Given the description of an element on the screen output the (x, y) to click on. 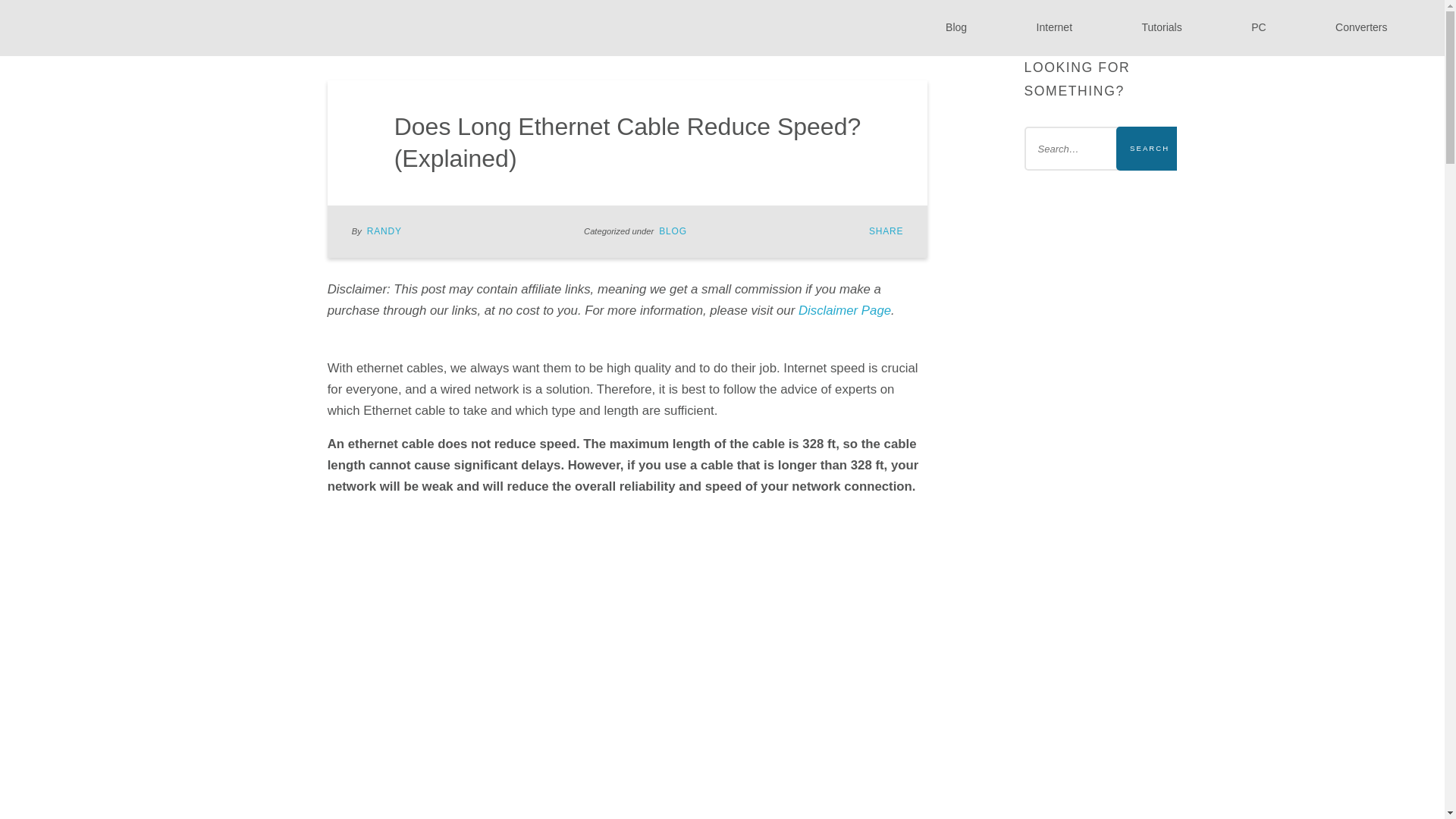
Internet (1053, 27)
Tutorials (1161, 27)
PC (1258, 27)
Converters (1361, 27)
SHARE (885, 231)
Search (1149, 148)
Search (1149, 148)
Search (1149, 148)
RANDY (383, 231)
Search for: (1099, 148)
